Given the description of an element on the screen output the (x, y) to click on. 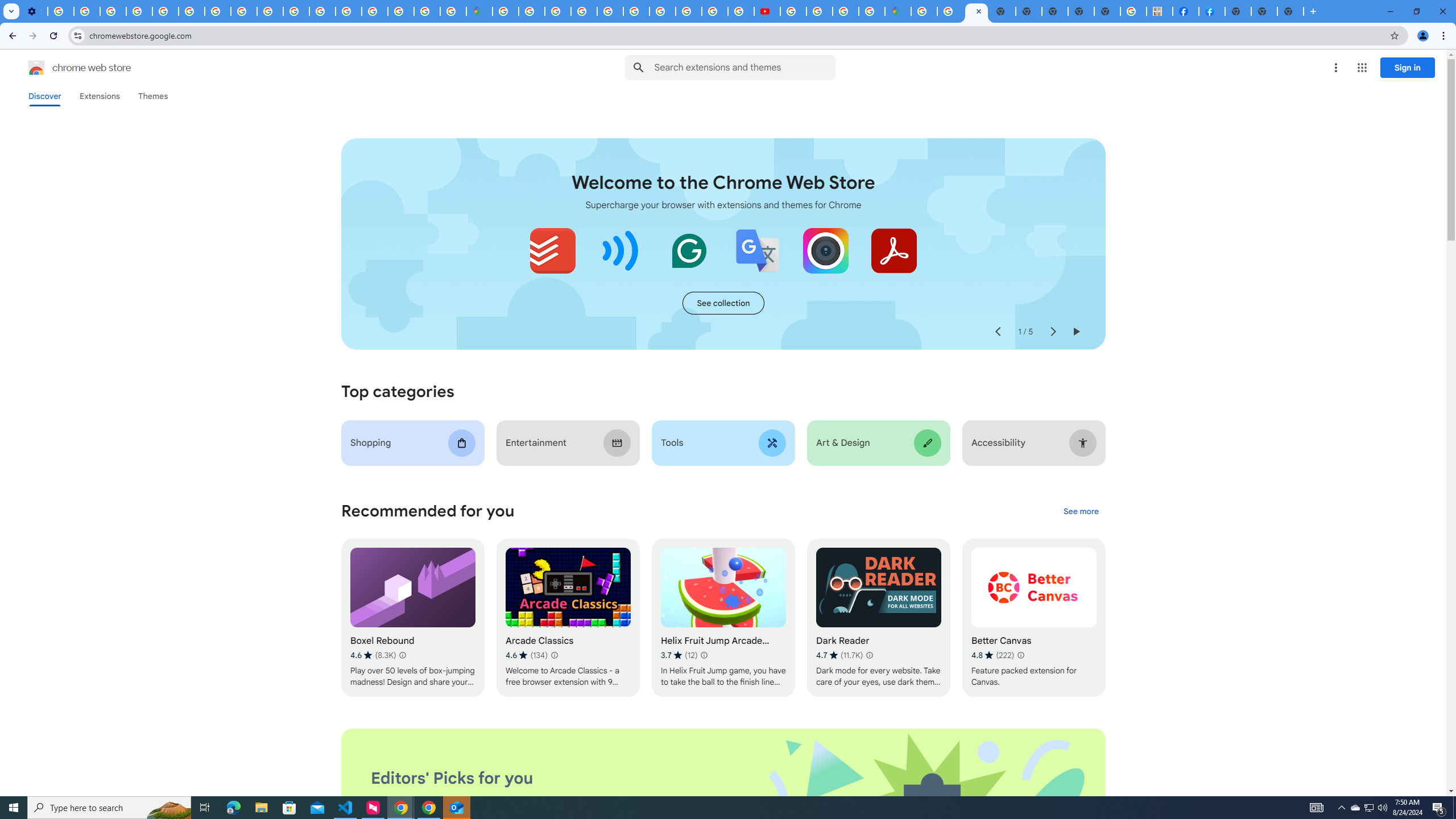
Entertainment (567, 443)
Chrome Web Store (976, 11)
Privacy Help Center - Policies Help (689, 11)
Next slide (1052, 331)
Chrome Web Store logo (36, 67)
Better Canvas (1033, 617)
Sign in - Google Accounts (374, 11)
Privacy Help Center - Policies Help (243, 11)
